Given the description of an element on the screen output the (x, y) to click on. 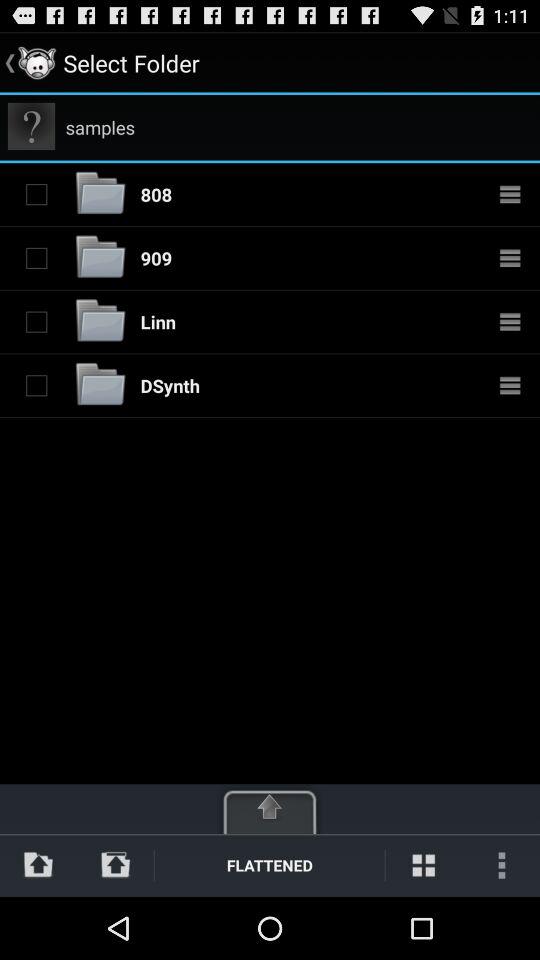
swipe until the dsynth icon (169, 385)
